Given the description of an element on the screen output the (x, y) to click on. 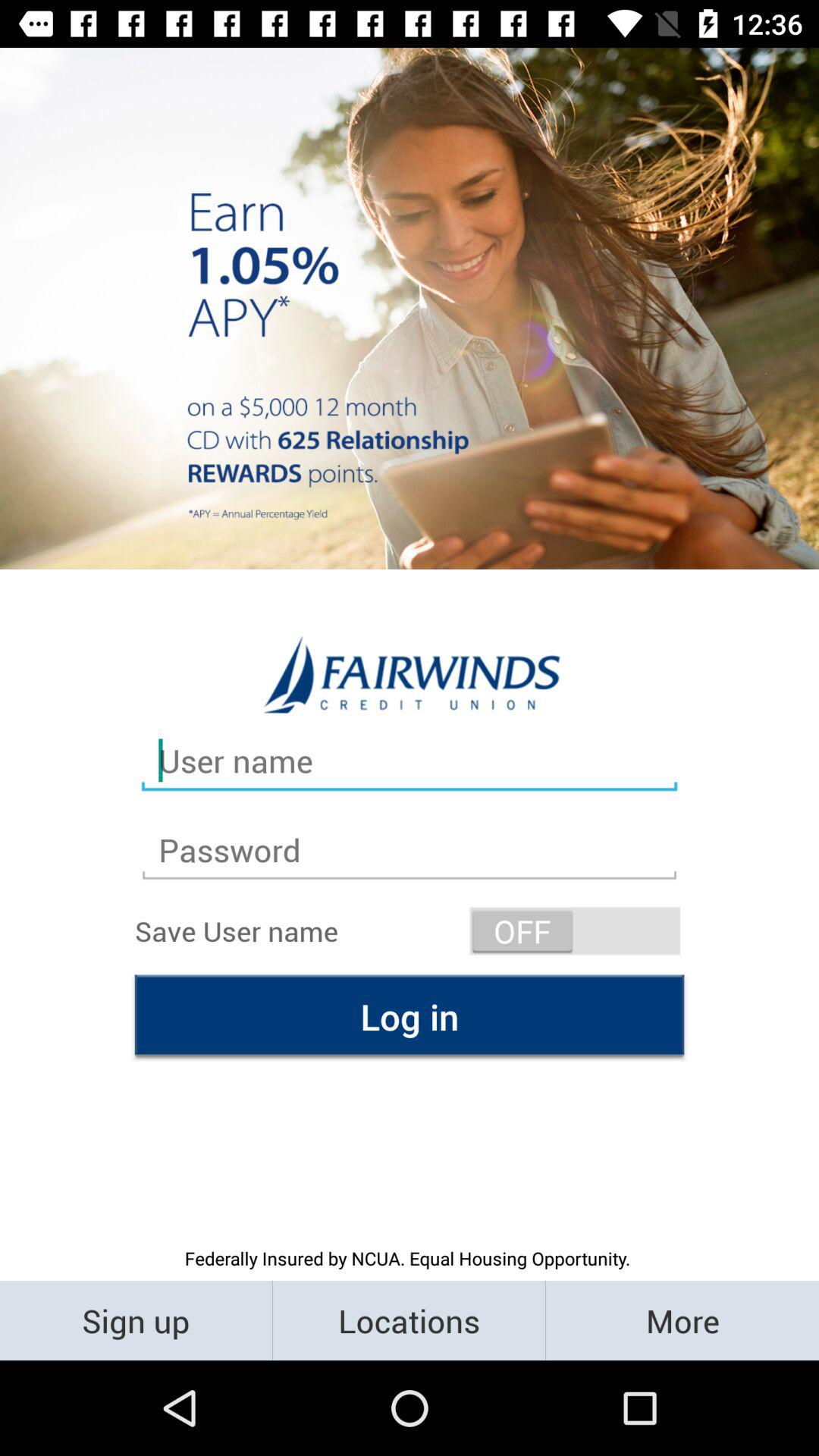
click log in item (409, 1016)
